Given the description of an element on the screen output the (x, y) to click on. 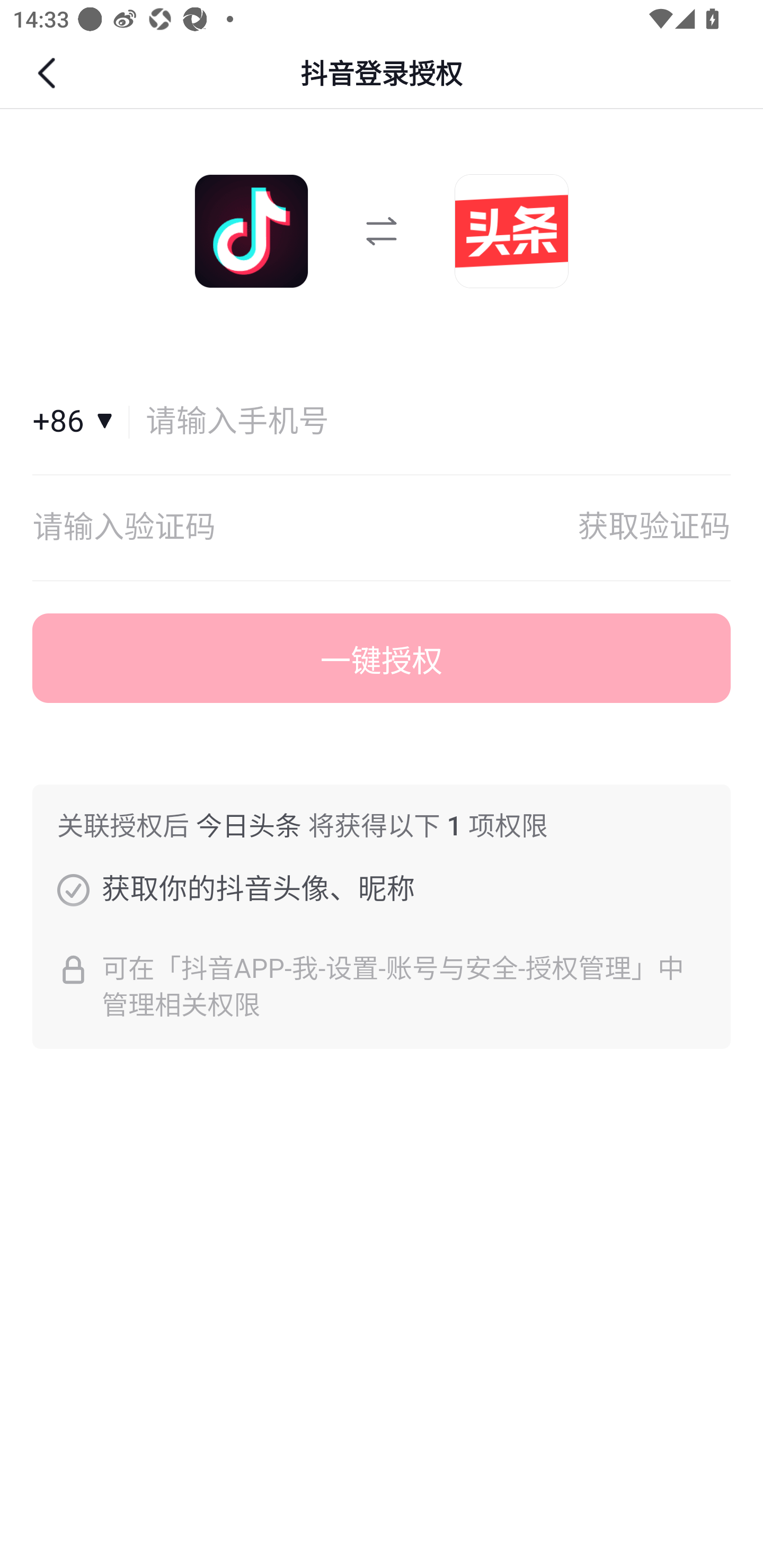
返回 (49, 72)
国家和地区+86 (81, 421)
获取验证码 (653, 527)
一键授权 (381, 658)
获取你的抖音头像、昵称 (72, 889)
